Given the description of an element on the screen output the (x, y) to click on. 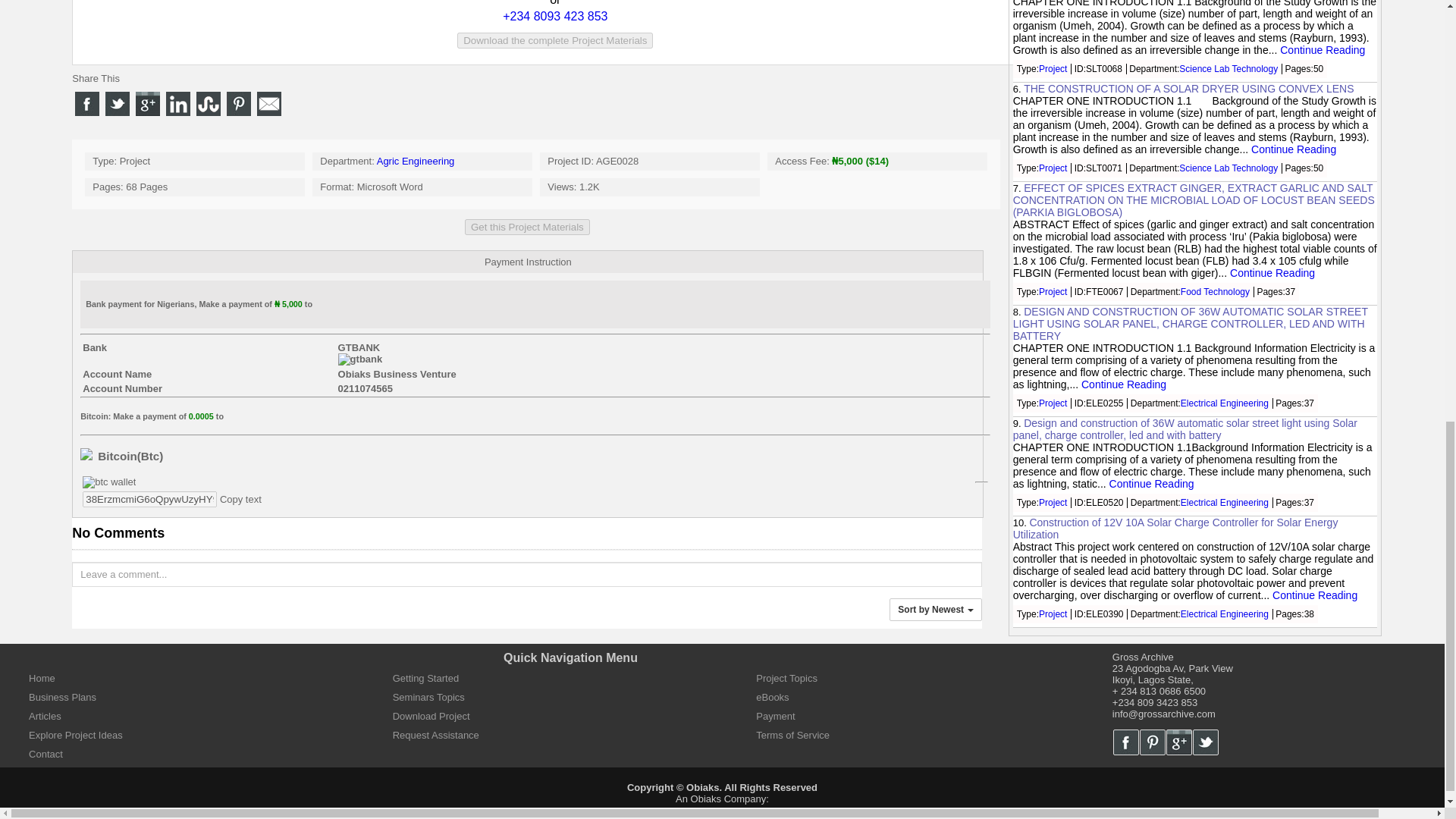
Share on Pinterst (238, 103)
Share by Email (269, 103)
Share on Twitter (116, 103)
Twitter (1205, 742)
Share on LinkedIn (177, 103)
Google Plus (1179, 742)
38ErzmcmiG6oQpywUzyHY9ch6U8ime35ys (149, 498)
Share on Google Plus (147, 103)
Pintrest (1153, 742)
Share on Facebook (87, 103)
Share on StumbleUpon (208, 103)
Facebook (1125, 742)
